Given the description of an element on the screen output the (x, y) to click on. 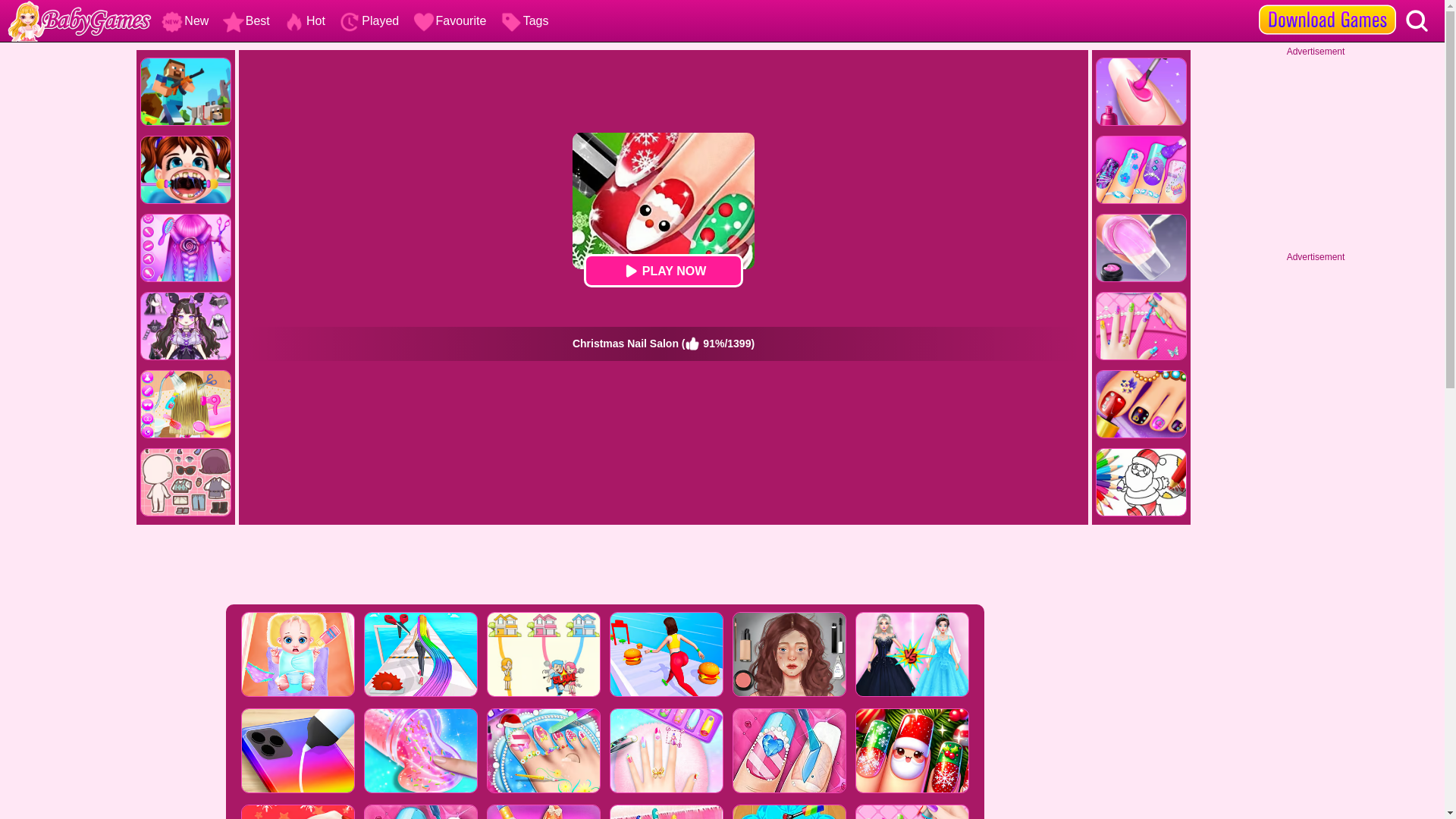
Hot (302, 20)
Advertisement (1315, 152)
Tags (523, 20)
Best (244, 20)
Favourite (448, 20)
New (183, 20)
PLAY NOW (662, 270)
Advertisement (603, 566)
Played (367, 20)
